Given the description of an element on the screen output the (x, y) to click on. 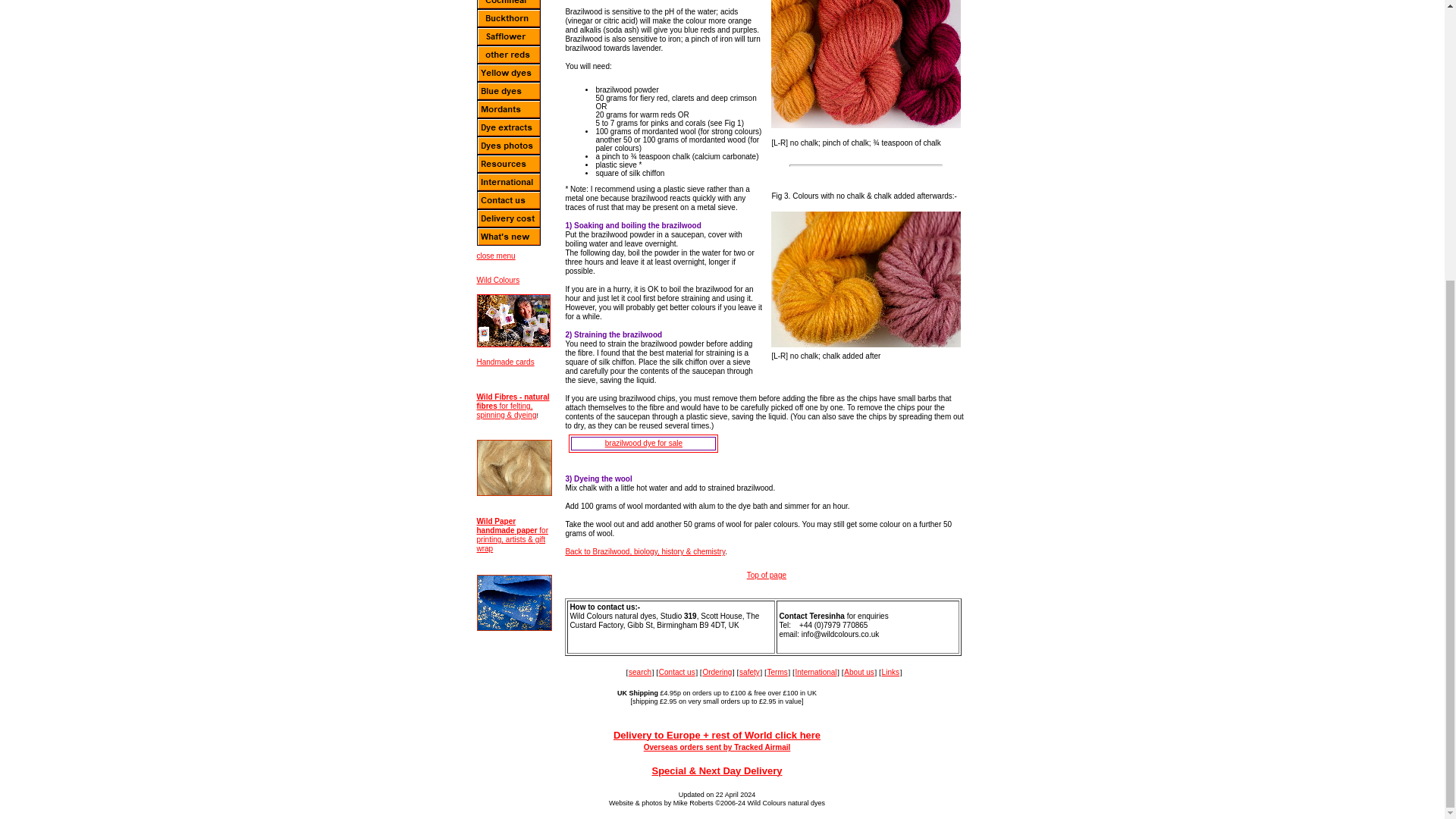
cochineal (508, 4)
Handmade cards (505, 361)
Wild Colours (497, 280)
Dyeing with Buckthorn (508, 18)
close menu (495, 255)
